Given the description of an element on the screen output the (x, y) to click on. 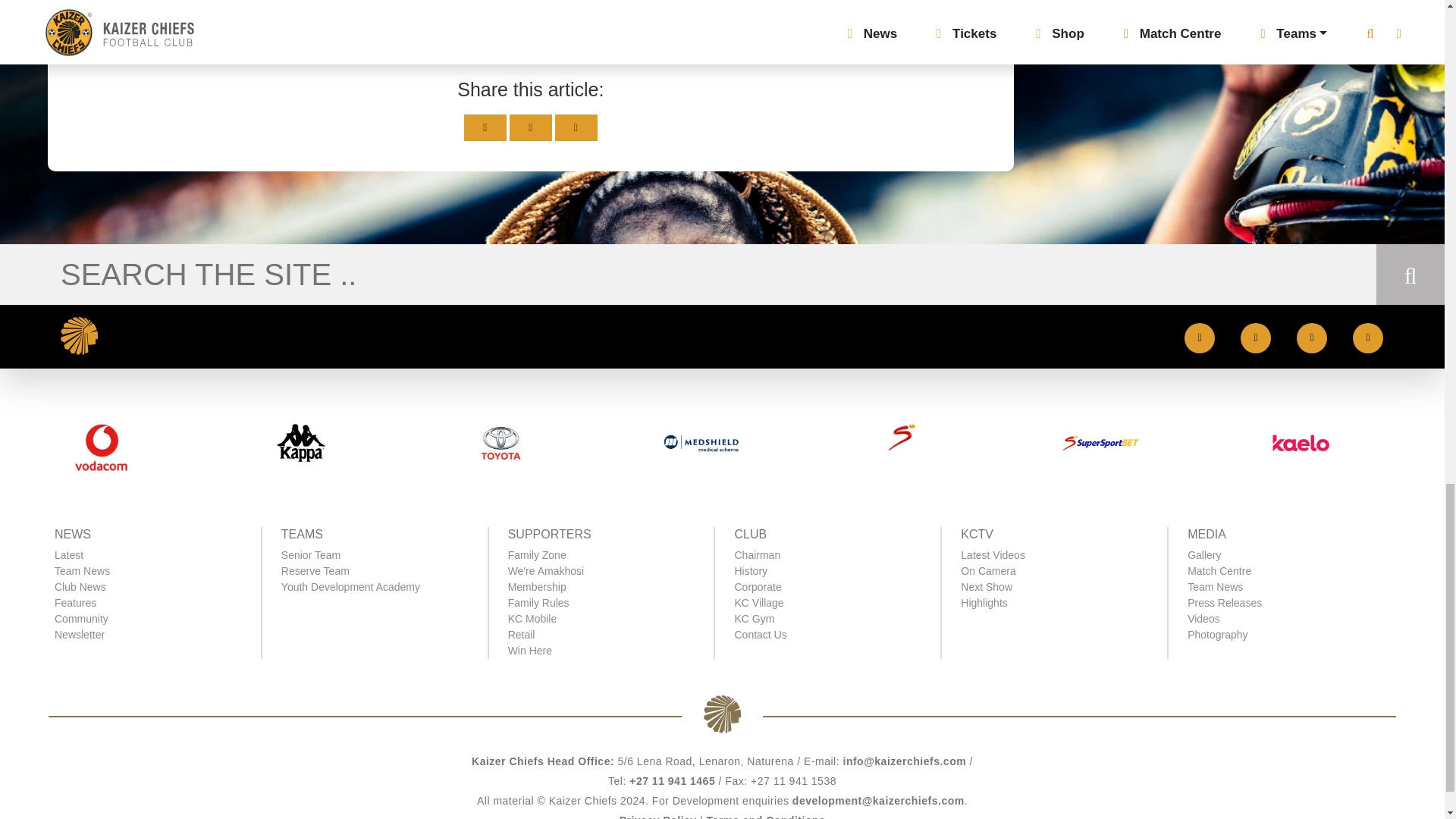
Share on LinkedIn (575, 127)
Share on Twitter (485, 127)
Share on Facebook (530, 127)
